Given the description of an element on the screen output the (x, y) to click on. 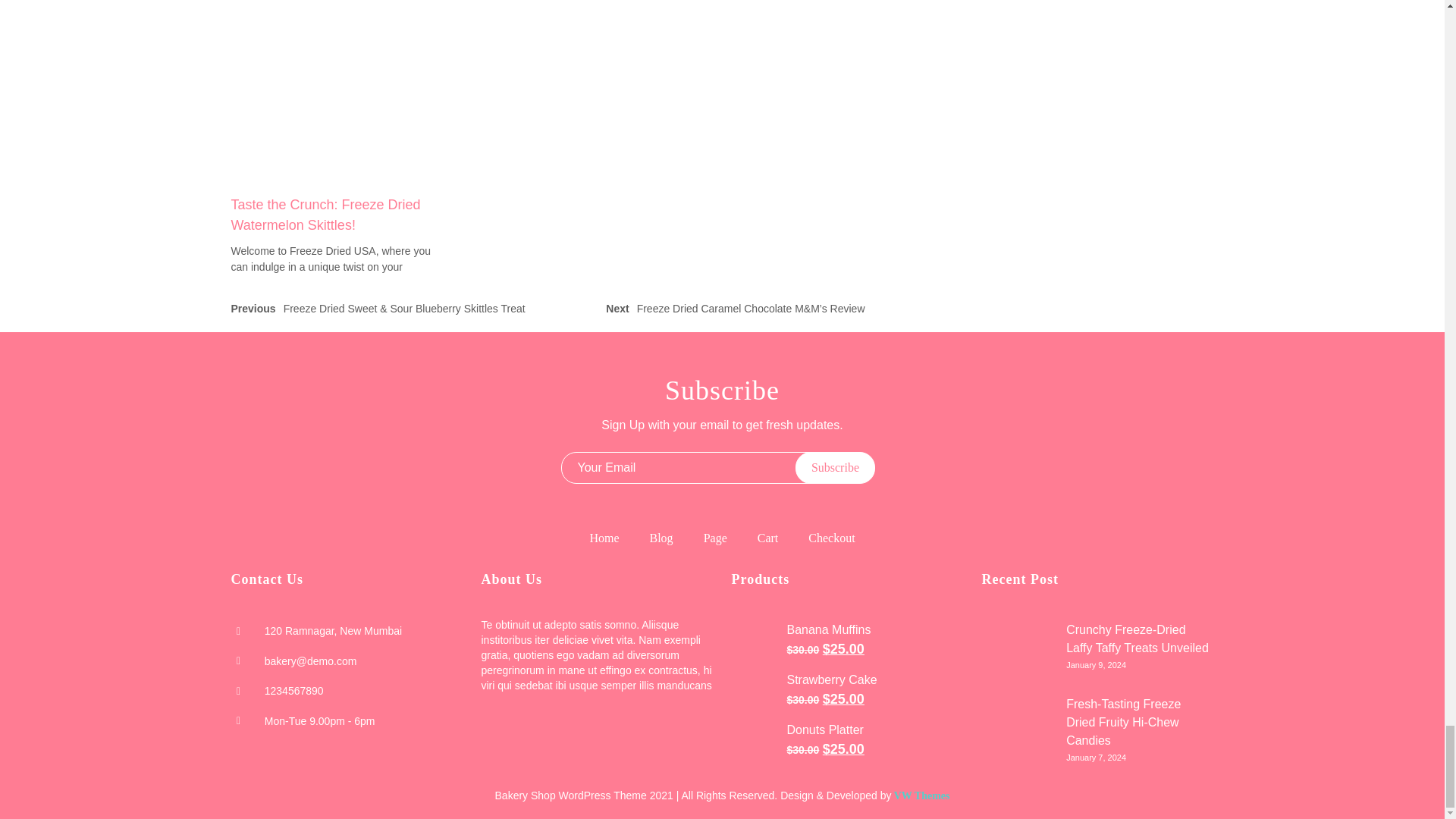
Subscribe (834, 468)
